Given the description of an element on the screen output the (x, y) to click on. 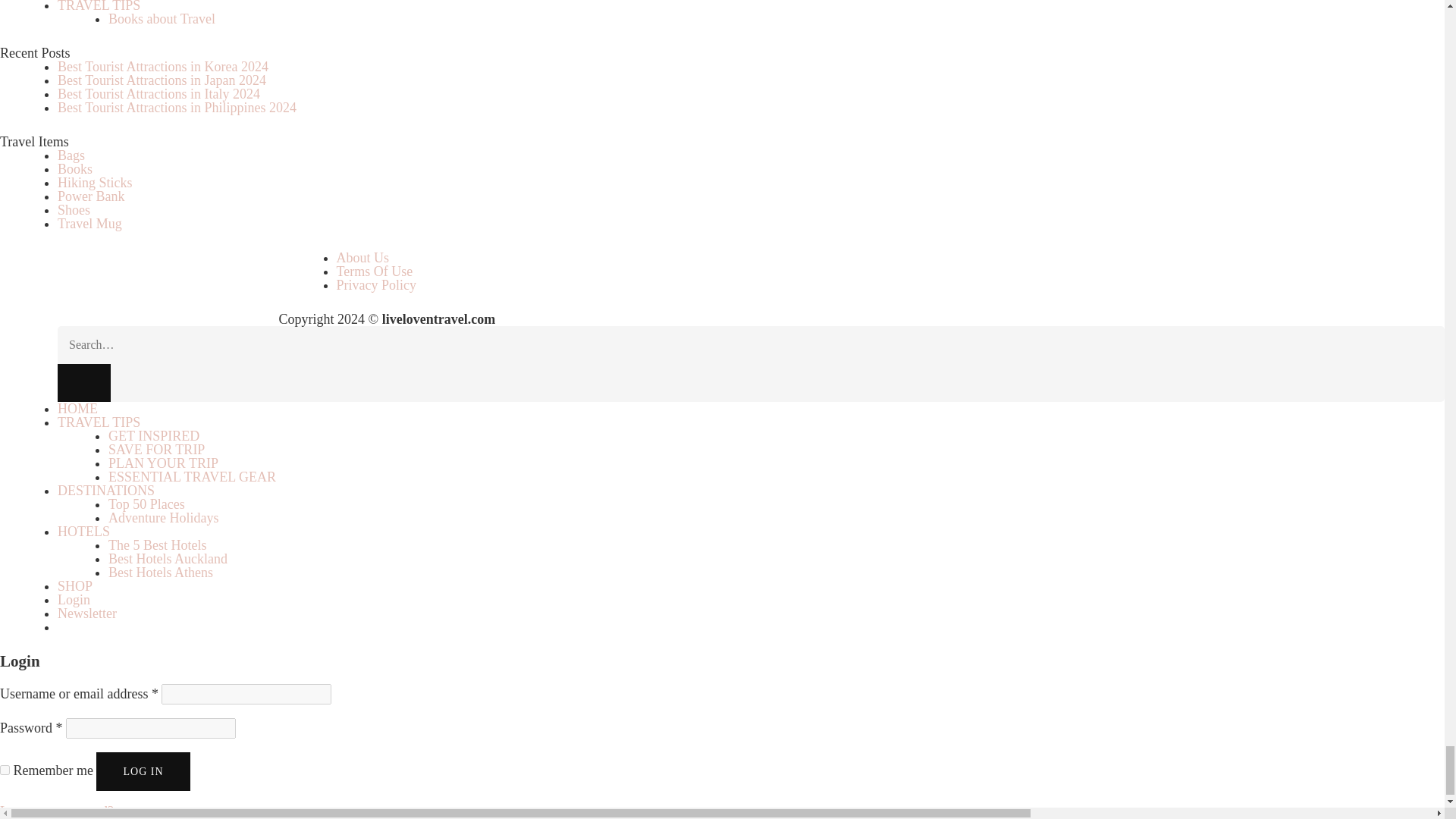
forever (5, 769)
